Given the description of an element on the screen output the (x, y) to click on. 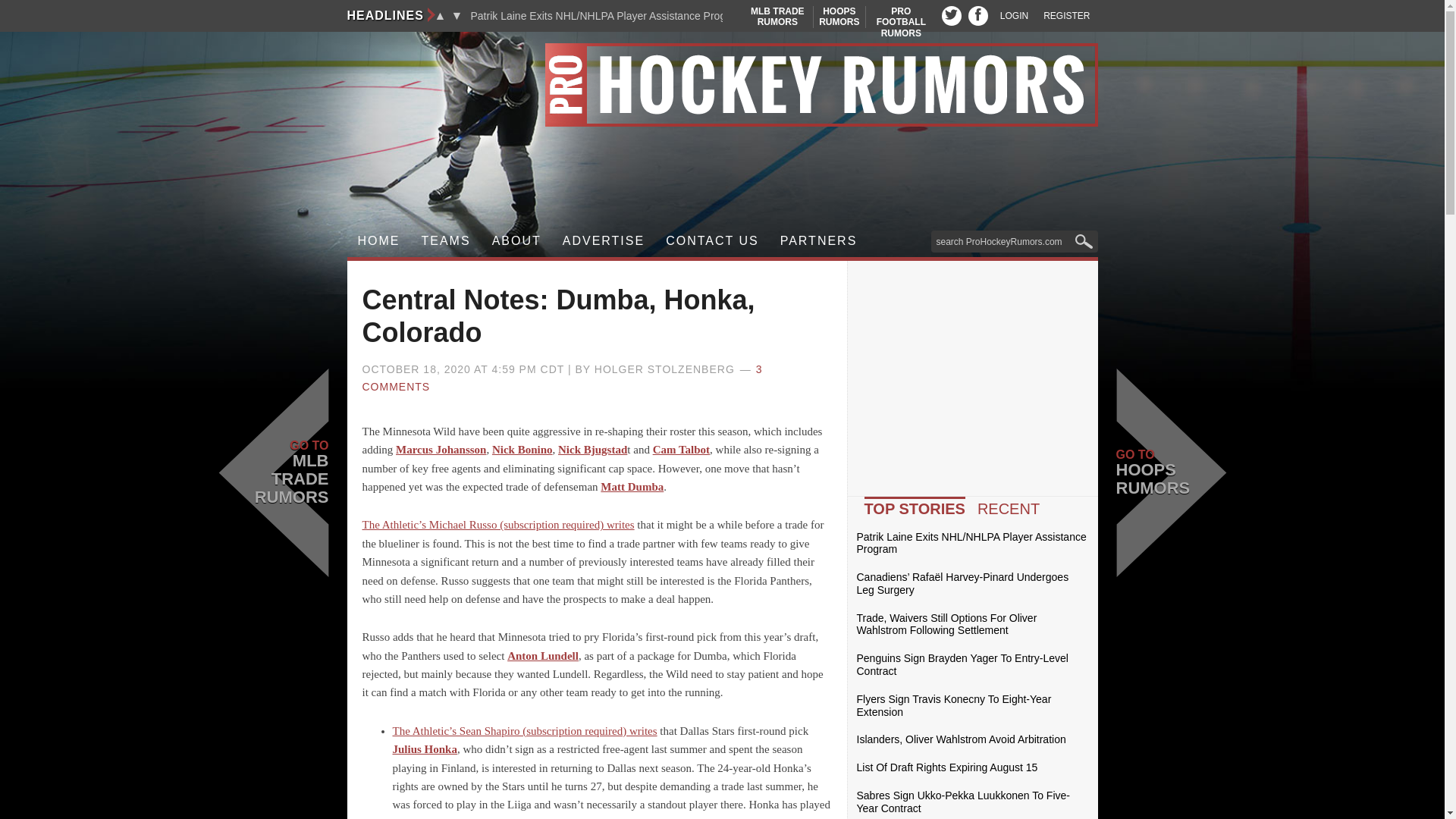
Next (456, 15)
LOGIN (1013, 15)
Previous (439, 15)
Pro Hockey Rumors (722, 84)
Search (901, 21)
REGISTER (445, 241)
FB profile (1066, 15)
Twitter profile (978, 15)
HOME (838, 16)
